Given the description of an element on the screen output the (x, y) to click on. 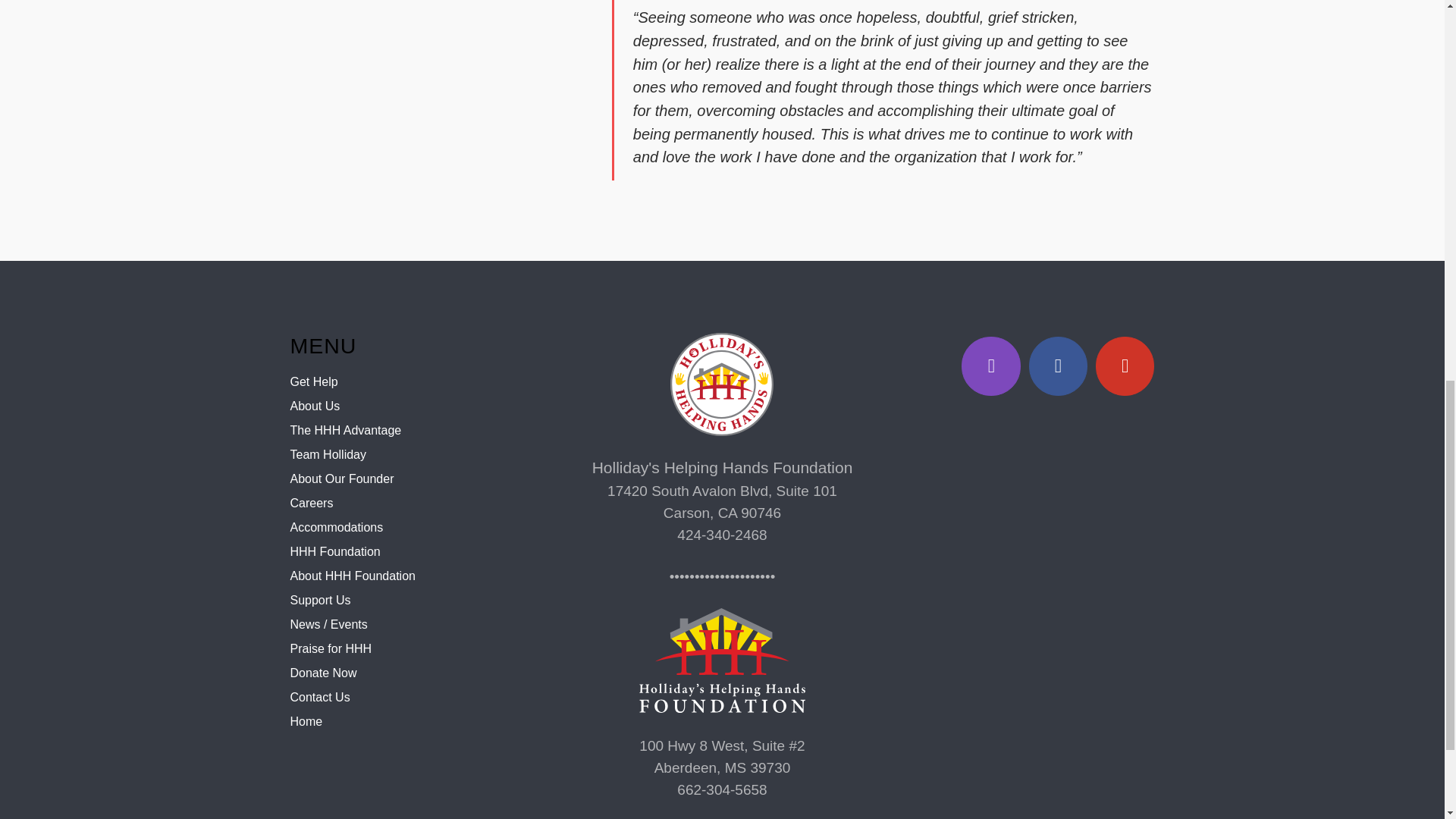
Holliday's Helping Hands on Instagram (990, 365)
Praise for HHH (330, 648)
Home (305, 721)
The HHH Advantage (345, 430)
Team Holliday (327, 454)
Careers (311, 502)
HHH Foundation (334, 551)
Accommodations (335, 526)
Holliday's Helping Hands on Youtube (1125, 365)
About Our Founder (341, 478)
